Given the description of an element on the screen output the (x, y) to click on. 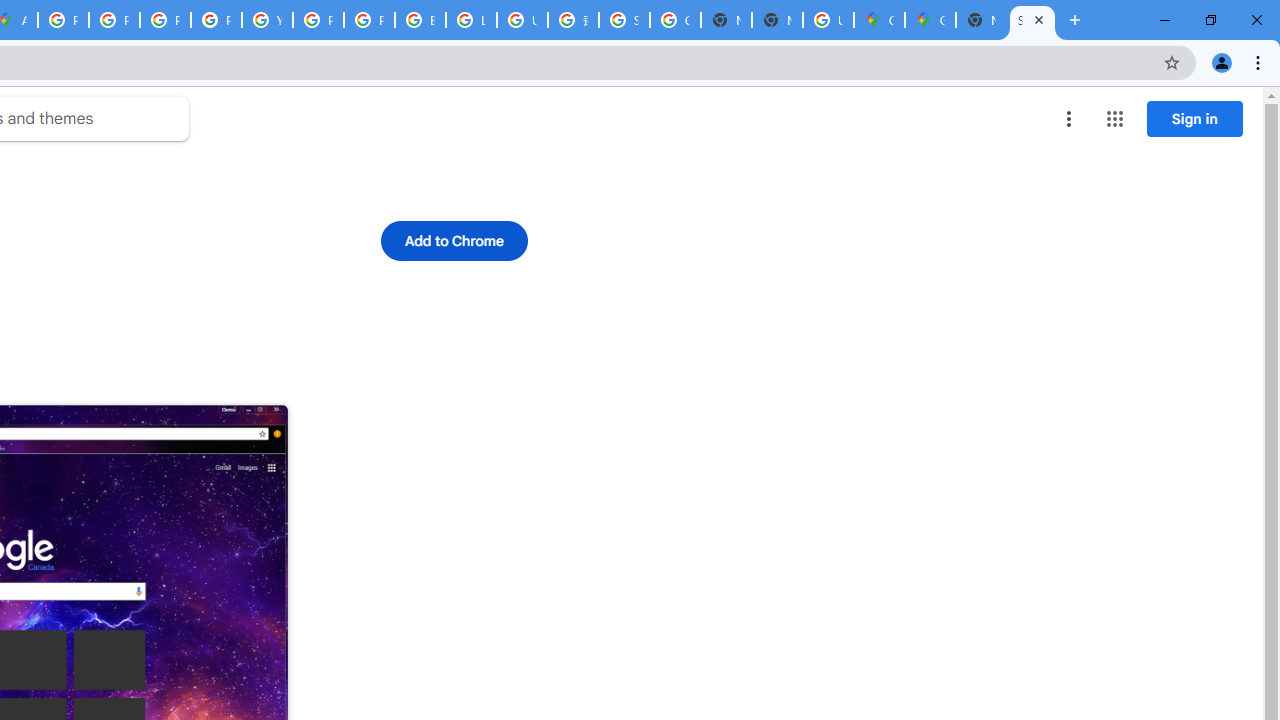
Add to Chrome (453, 240)
Policy Accountability and Transparency - Transparency Center (63, 20)
Google Maps (930, 20)
Use Google Maps in Space - Google Maps Help (827, 20)
Google Maps (878, 20)
New Tab (981, 20)
New Tab (776, 20)
